Given the description of an element on the screen output the (x, y) to click on. 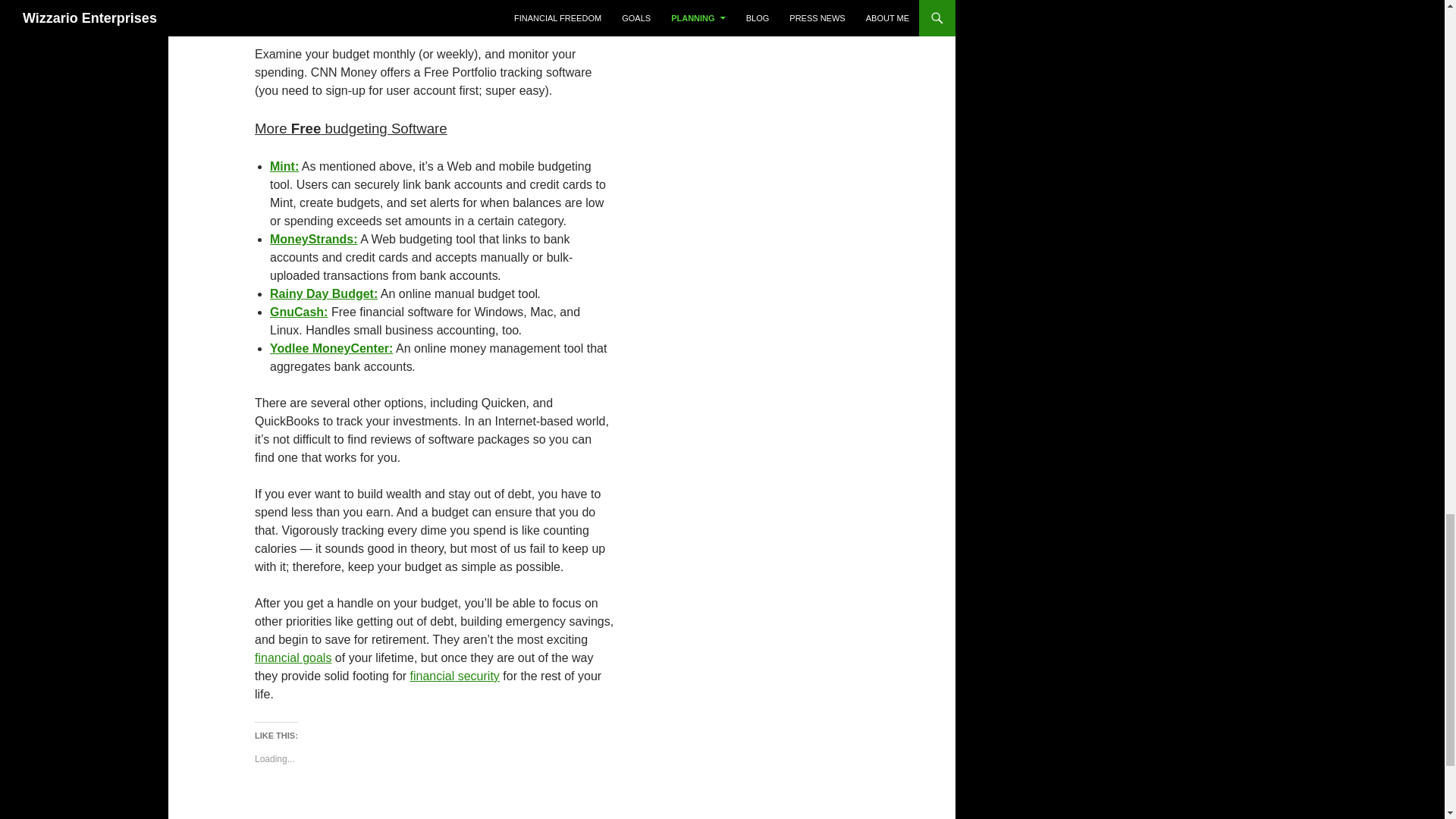
Mint: (283, 165)
MoneyStrands: (313, 238)
Yodlee MoneyCenter: (331, 348)
Mint.com (283, 165)
financial goals (292, 657)
financial security (454, 675)
GnuCash: (298, 311)
Your Investment Objectives Should Be Clearly Defined (292, 657)
Rainy Day Budget: (323, 293)
Welcome (454, 675)
